Given the description of an element on the screen output the (x, y) to click on. 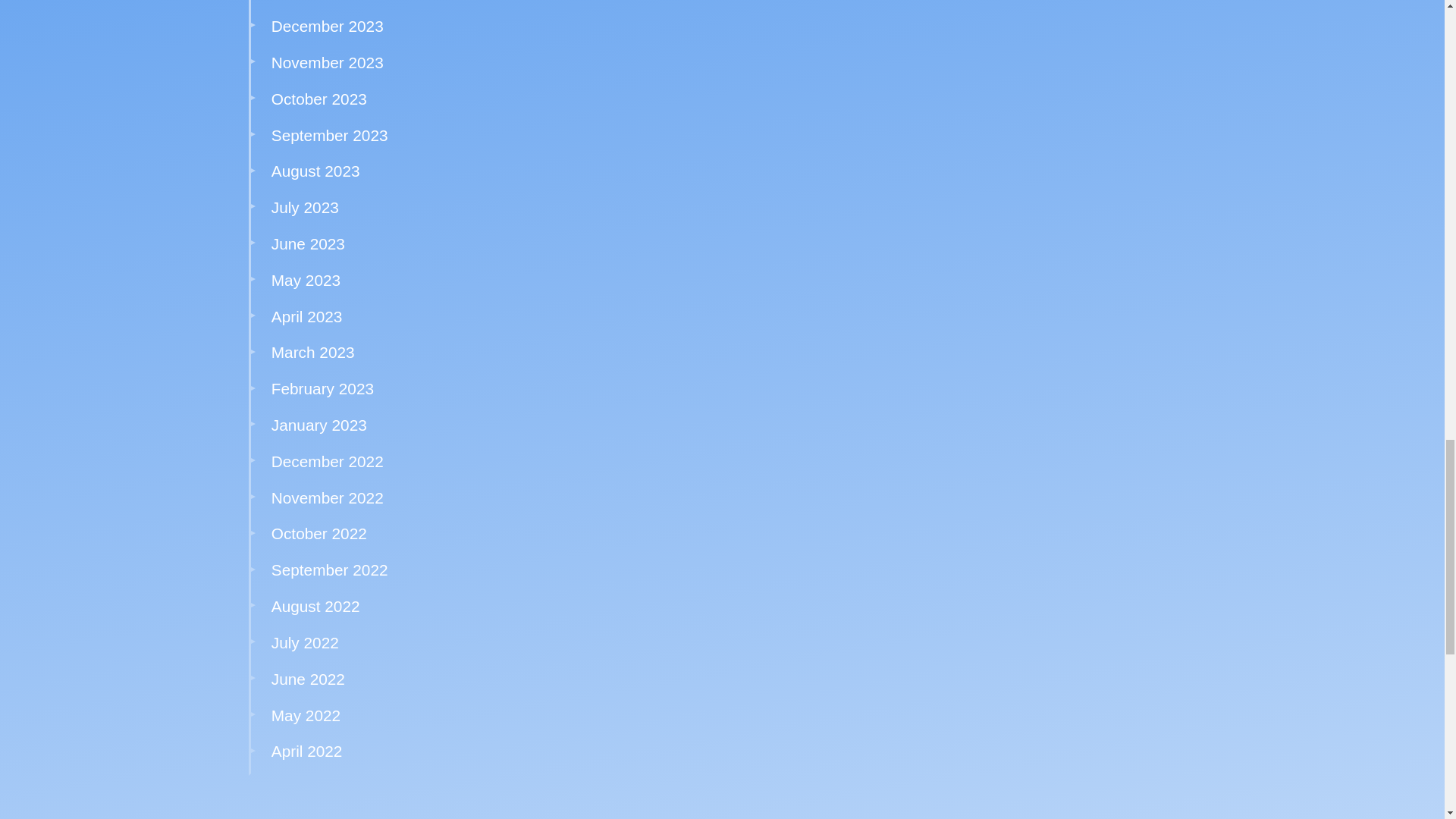
May 2022 (305, 714)
December 2022 (327, 461)
May 2023 (305, 280)
April 2022 (306, 751)
September 2023 (329, 135)
November 2023 (327, 62)
June 2023 (307, 243)
August 2023 (314, 170)
October 2023 (318, 98)
October 2022 (318, 533)
November 2022 (327, 497)
December 2023 (327, 26)
August 2022 (314, 606)
July 2022 (304, 642)
April 2023 (306, 316)
